Given the description of an element on the screen output the (x, y) to click on. 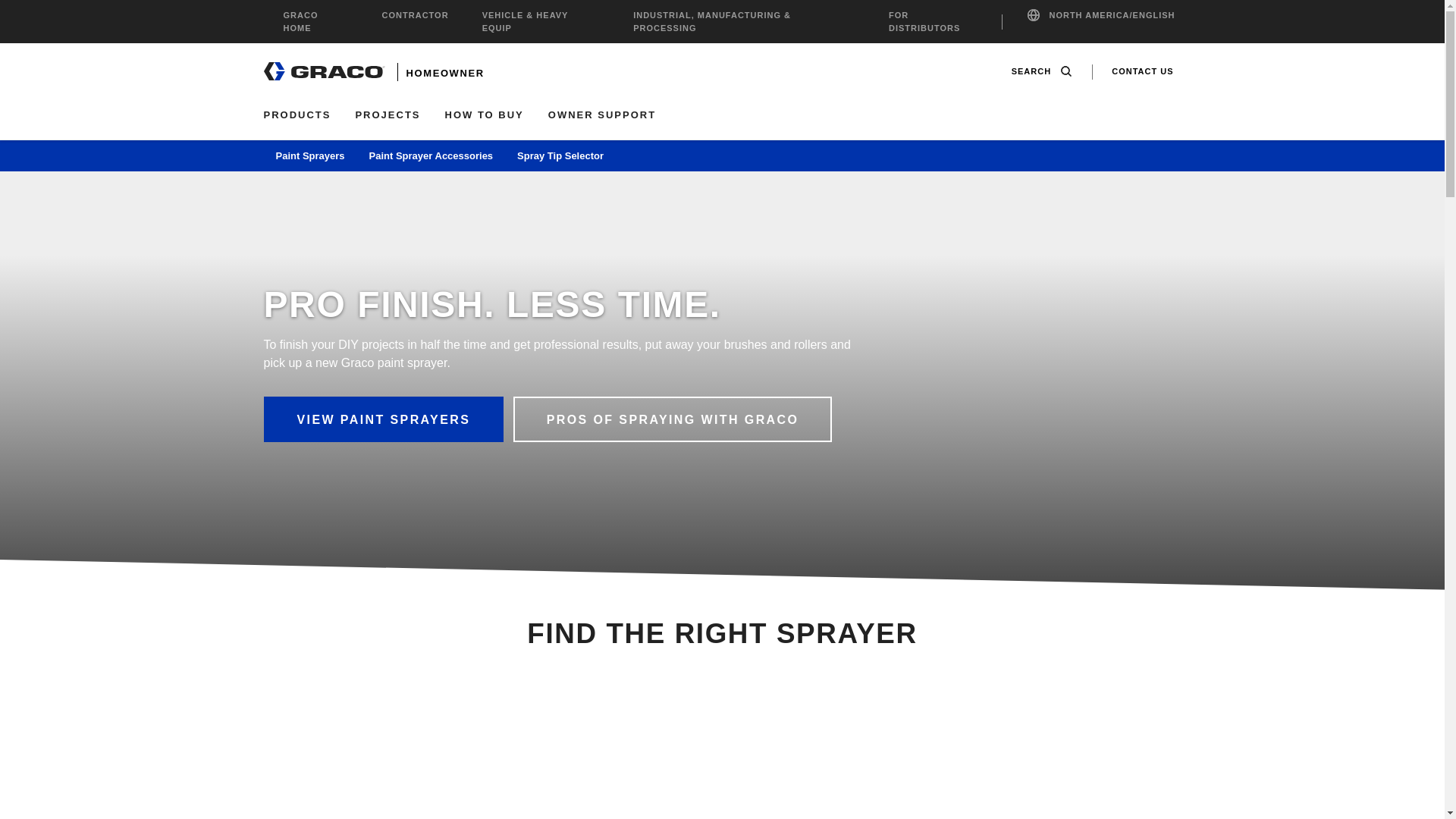
HOW TO BUY (484, 115)
PRODUCTS (297, 115)
PROJECTS (387, 115)
GRACO HOME (316, 21)
CONTACT US (1142, 71)
FOR DISTRIBUTORS (935, 21)
CONTRACTOR (414, 15)
HOMEOWNER (445, 73)
OWNER SUPPORT (602, 115)
Graco (324, 71)
